Given the description of an element on the screen output the (x, y) to click on. 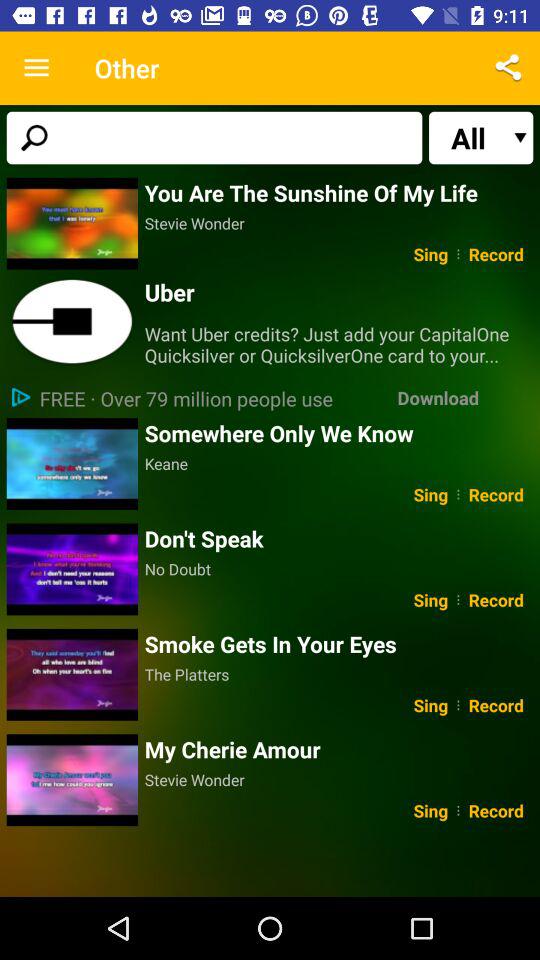
turn on the item above the platters  icon (338, 643)
